Given the description of an element on the screen output the (x, y) to click on. 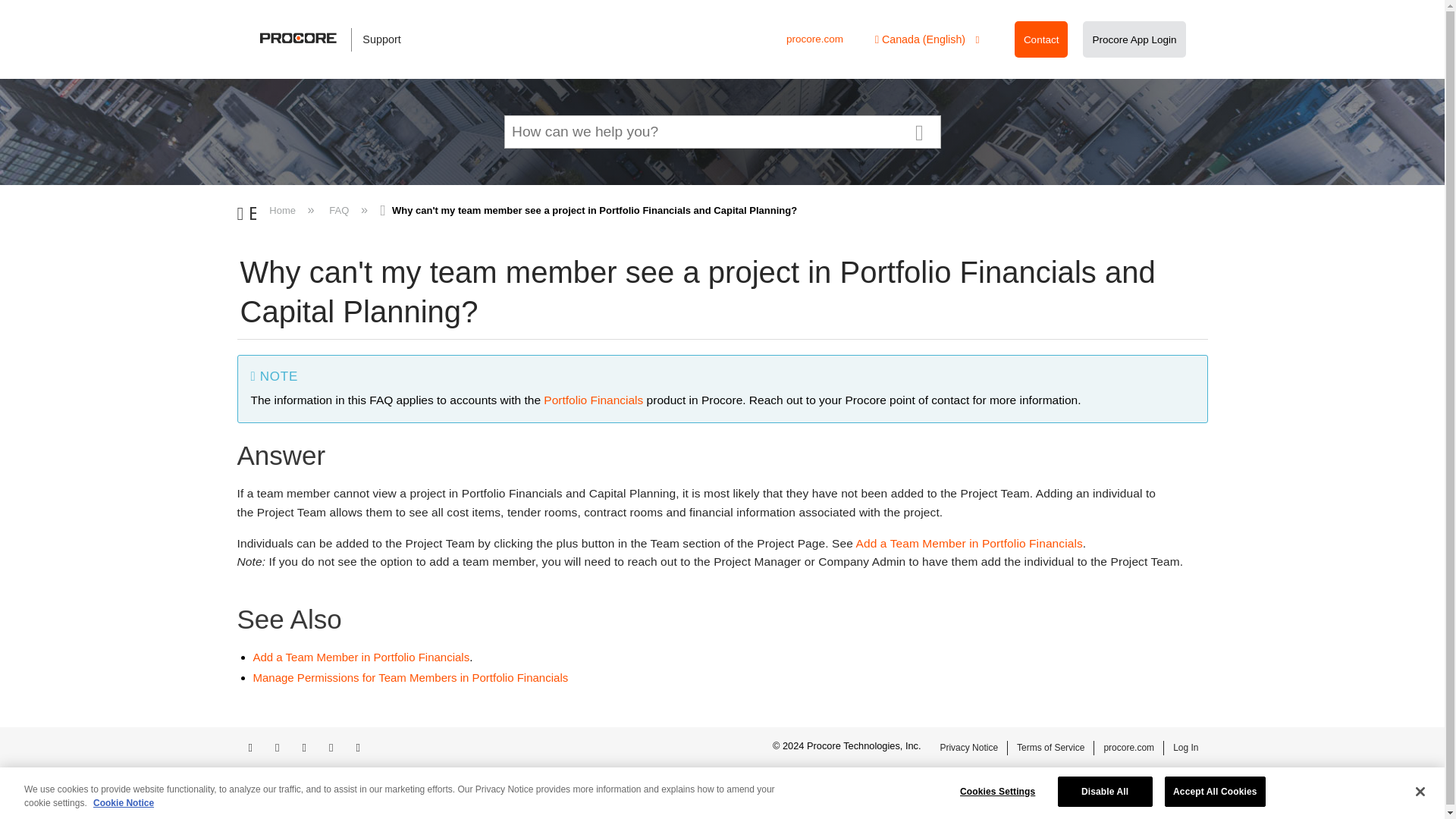
Live Chat (1229, 801)
Contact (1041, 39)
Add a Team Member in Portfolio Financials (969, 543)
Add a Team Member in Portfolio Financials (969, 543)
Home (283, 210)
Procore App Login (1134, 39)
FAQ (339, 210)
Manage Permissions for Team Members in Portfolio Financials (411, 676)
Manage Permissions for Team Members in Portfolio Financials (411, 676)
Portfolio Financials (593, 399)
Support (338, 38)
procore.com (814, 39)
Add a Team Member in Portfolio Financials (361, 656)
Add a Team Member in Portfolio Financials (361, 656)
